Given the description of an element on the screen output the (x, y) to click on. 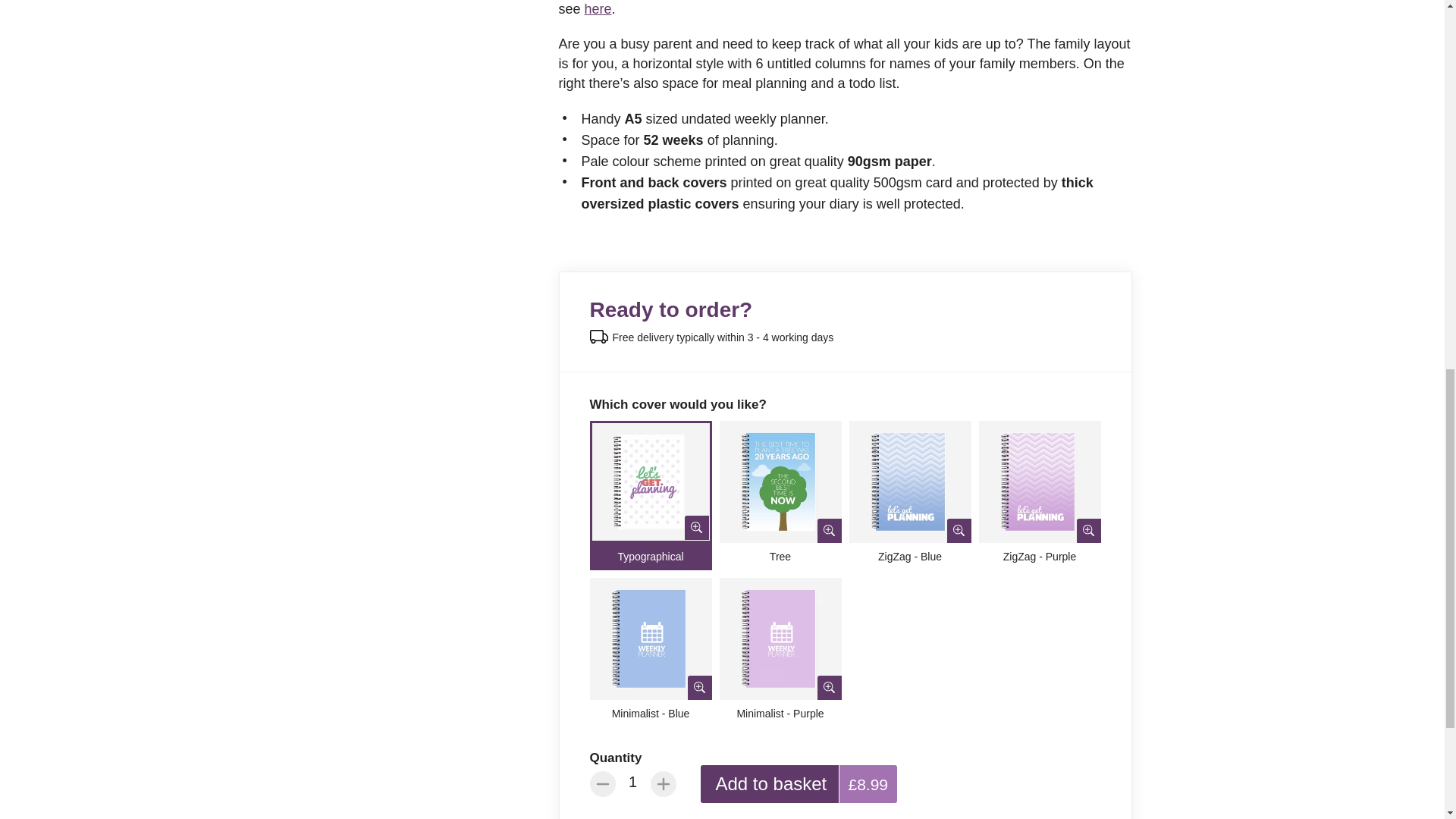
Add to basket (771, 783)
here (598, 8)
1 (632, 781)
